Given the description of an element on the screen output the (x, y) to click on. 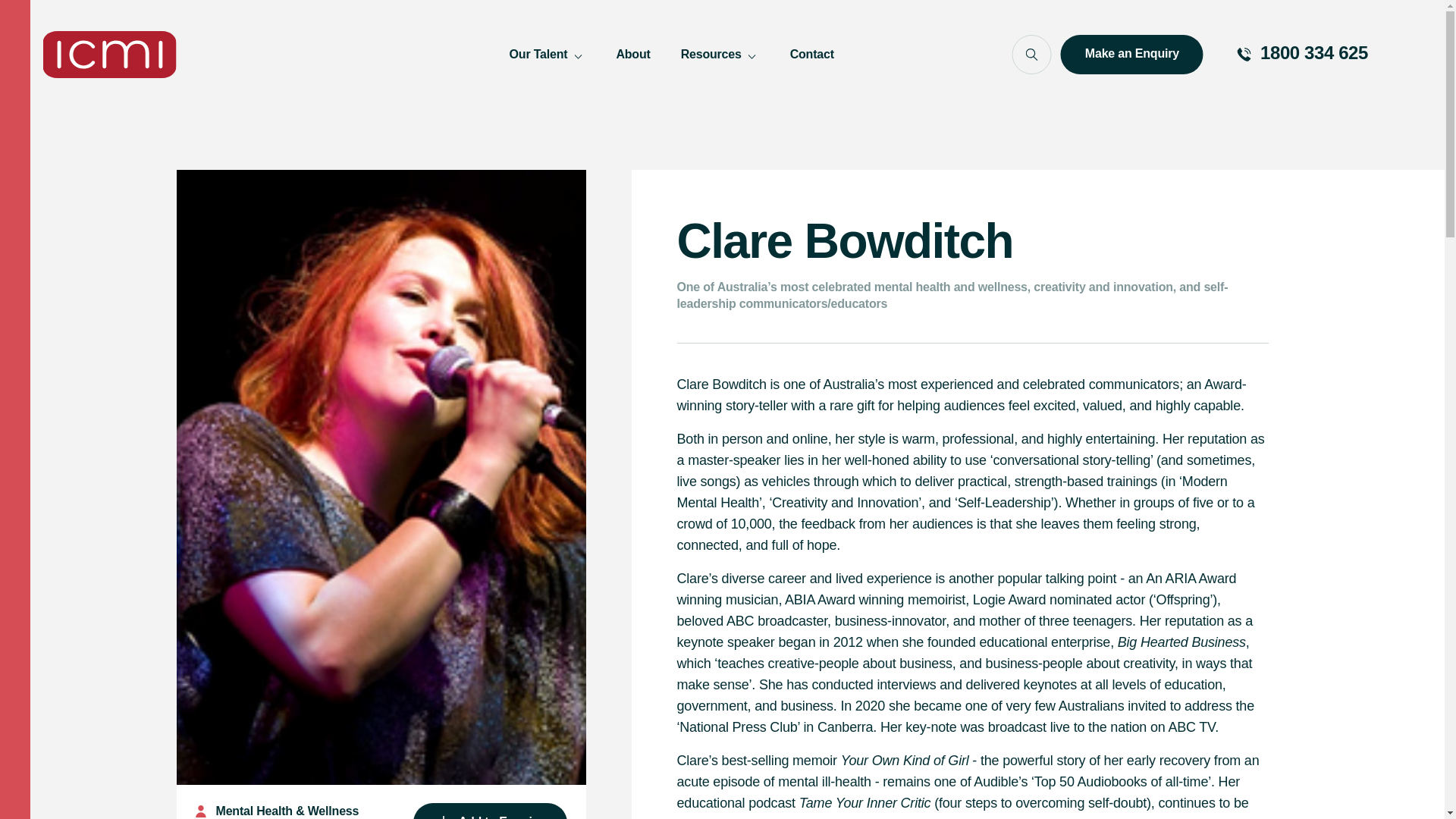
About (632, 54)
Contact (812, 54)
Resources (720, 54)
Home (109, 54)
